Given the description of an element on the screen output the (x, y) to click on. 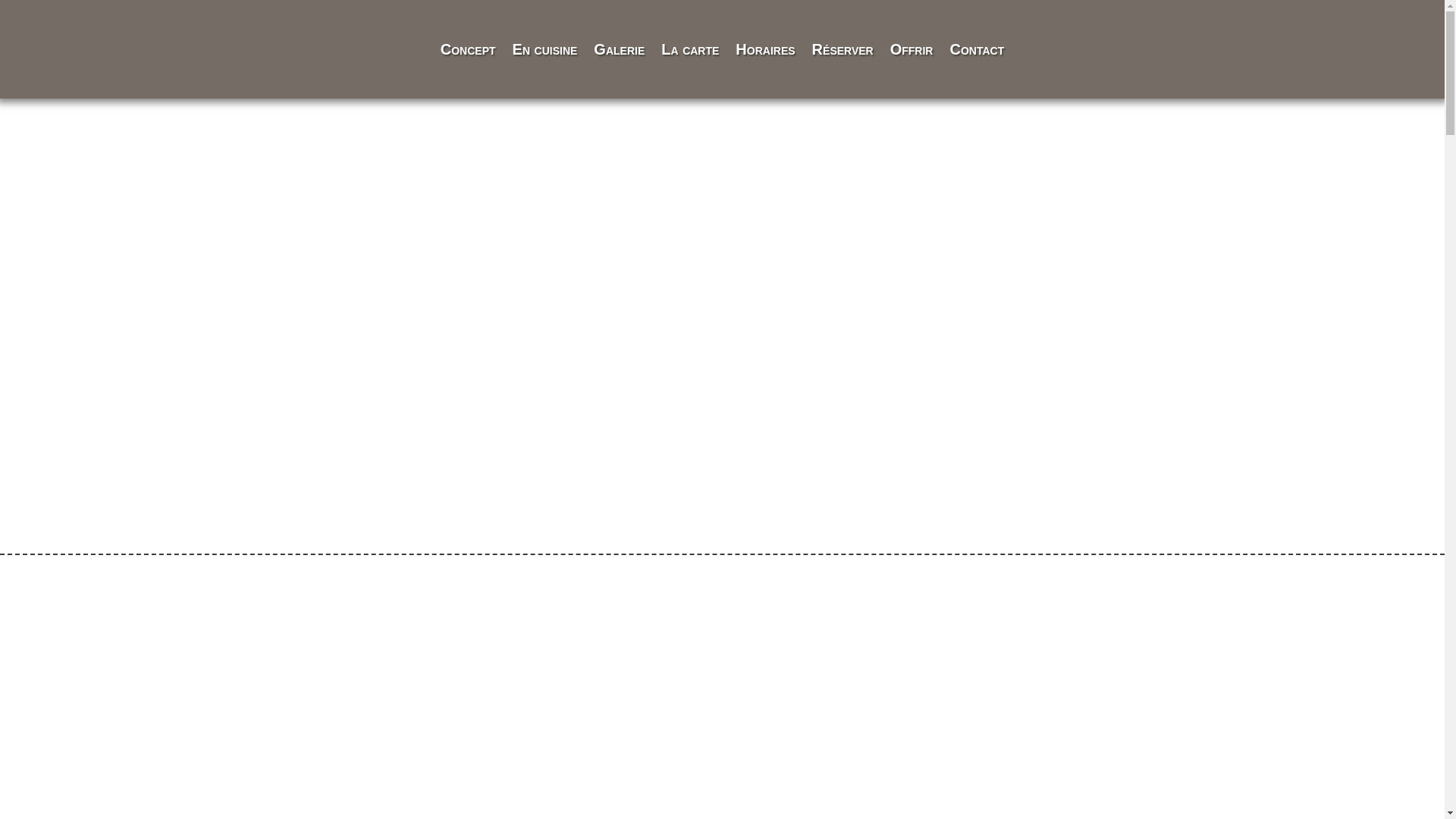
La carte Element type: text (689, 49)
Offrir Element type: text (911, 49)
En cuisine Element type: text (544, 49)
Galerie Element type: text (618, 49)
Horaires Element type: text (764, 49)
Contact Element type: text (976, 49)
Concept Element type: text (467, 49)
